Given the description of an element on the screen output the (x, y) to click on. 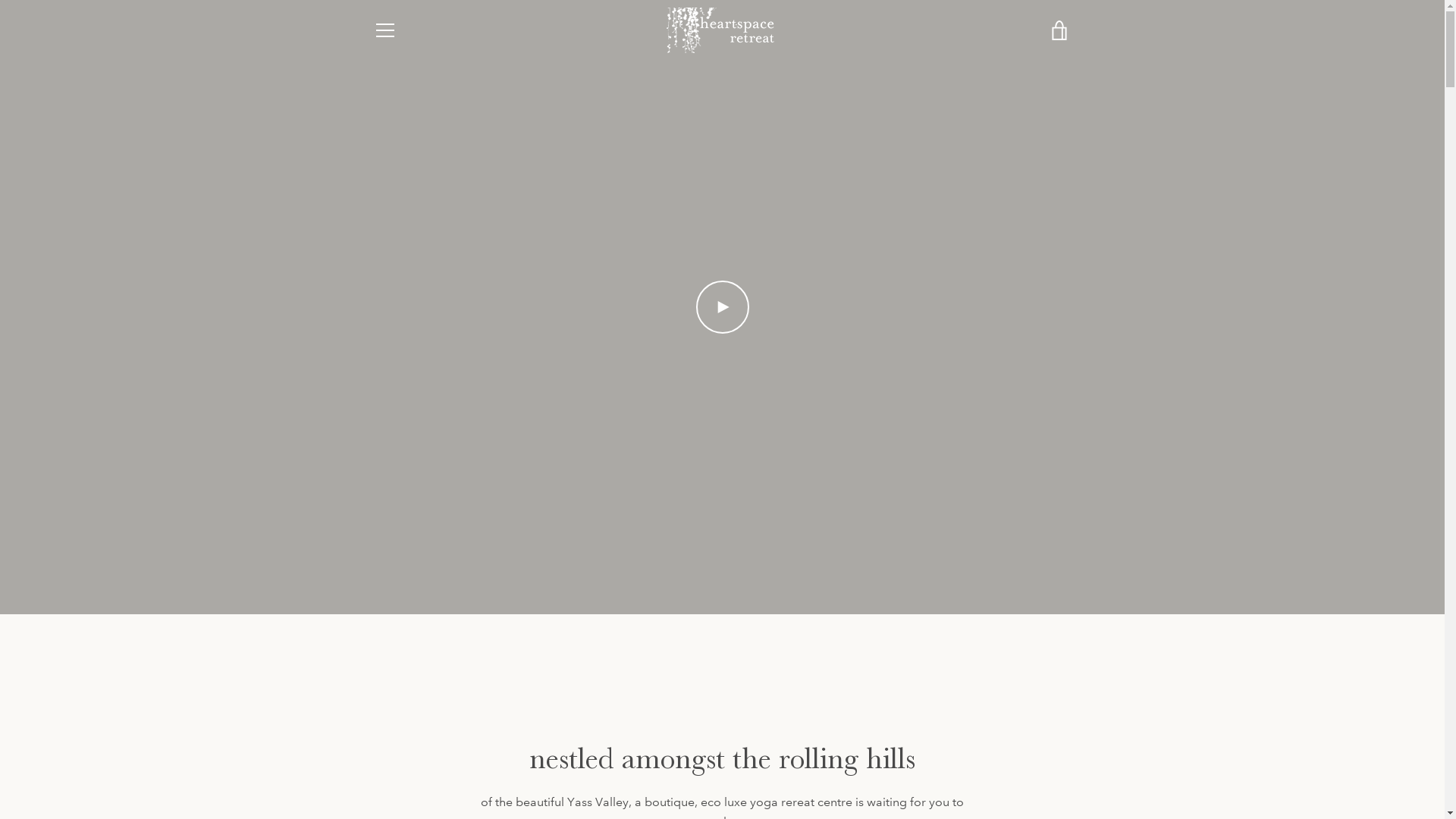
VIEW CART Element type: text (1059, 30)
Skip to content Element type: text (0, 0)
PLAY VIDEO Element type: text (722, 306)
MENU Element type: text (384, 30)
